Given the description of an element on the screen output the (x, y) to click on. 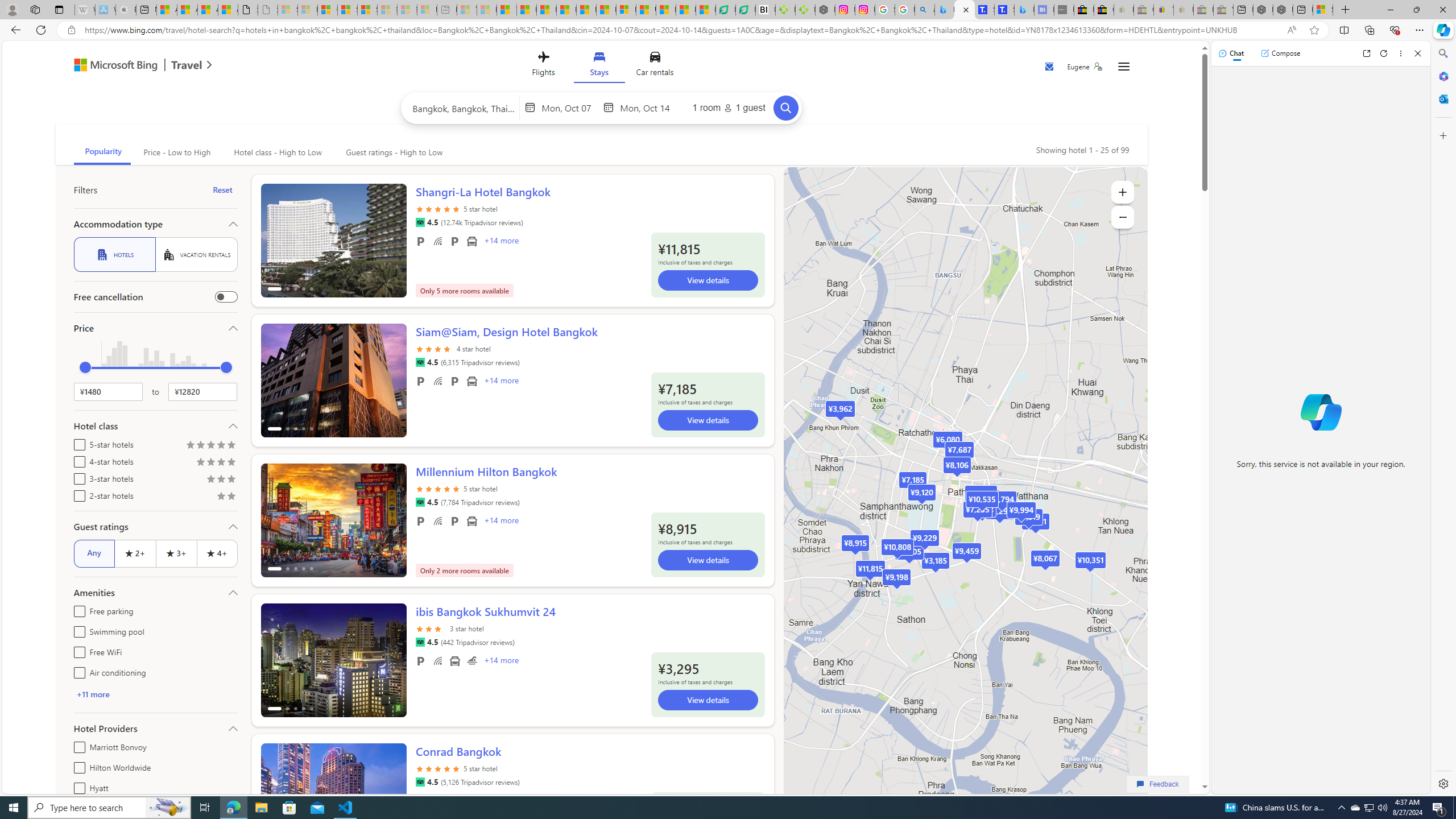
3+ (175, 553)
View details (708, 706)
star rating (437, 774)
Marine life - MSN - Sleeping (486, 9)
Zoom in (1122, 191)
Amenities (154, 592)
Drinking tea every day is proven to delay biological aging (565, 9)
Food and Drink - MSN (526, 9)
Search hotels or place (463, 107)
max  (225, 367)
Yard, Garden & Outdoor Living - Sleeping (1222, 9)
Hotel class - High to Low (277, 152)
